Given the description of an element on the screen output the (x, y) to click on. 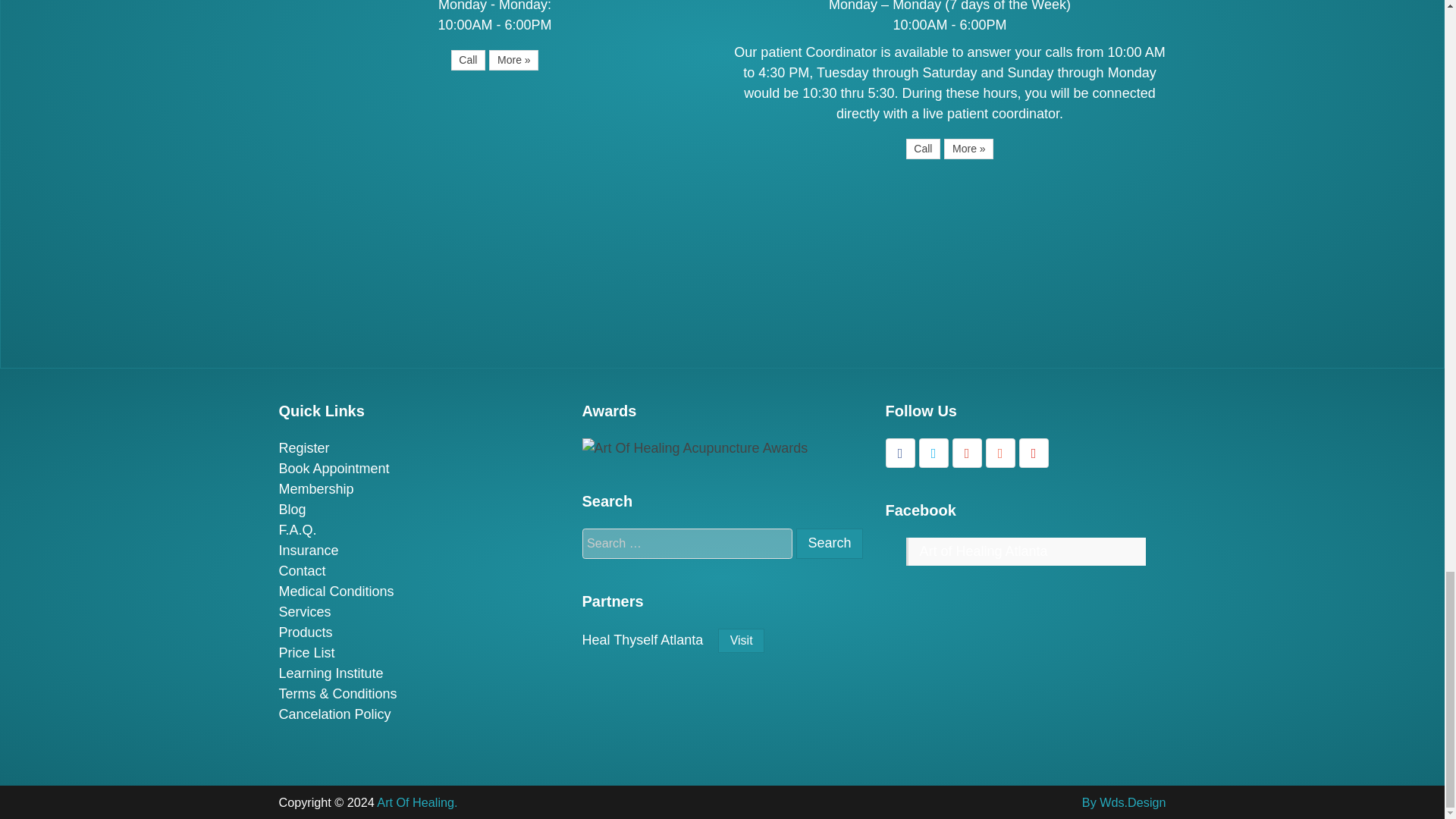
Search (828, 543)
Search (828, 543)
facebook (900, 452)
Heal Thyself Atlanta (740, 640)
